Given the description of an element on the screen output the (x, y) to click on. 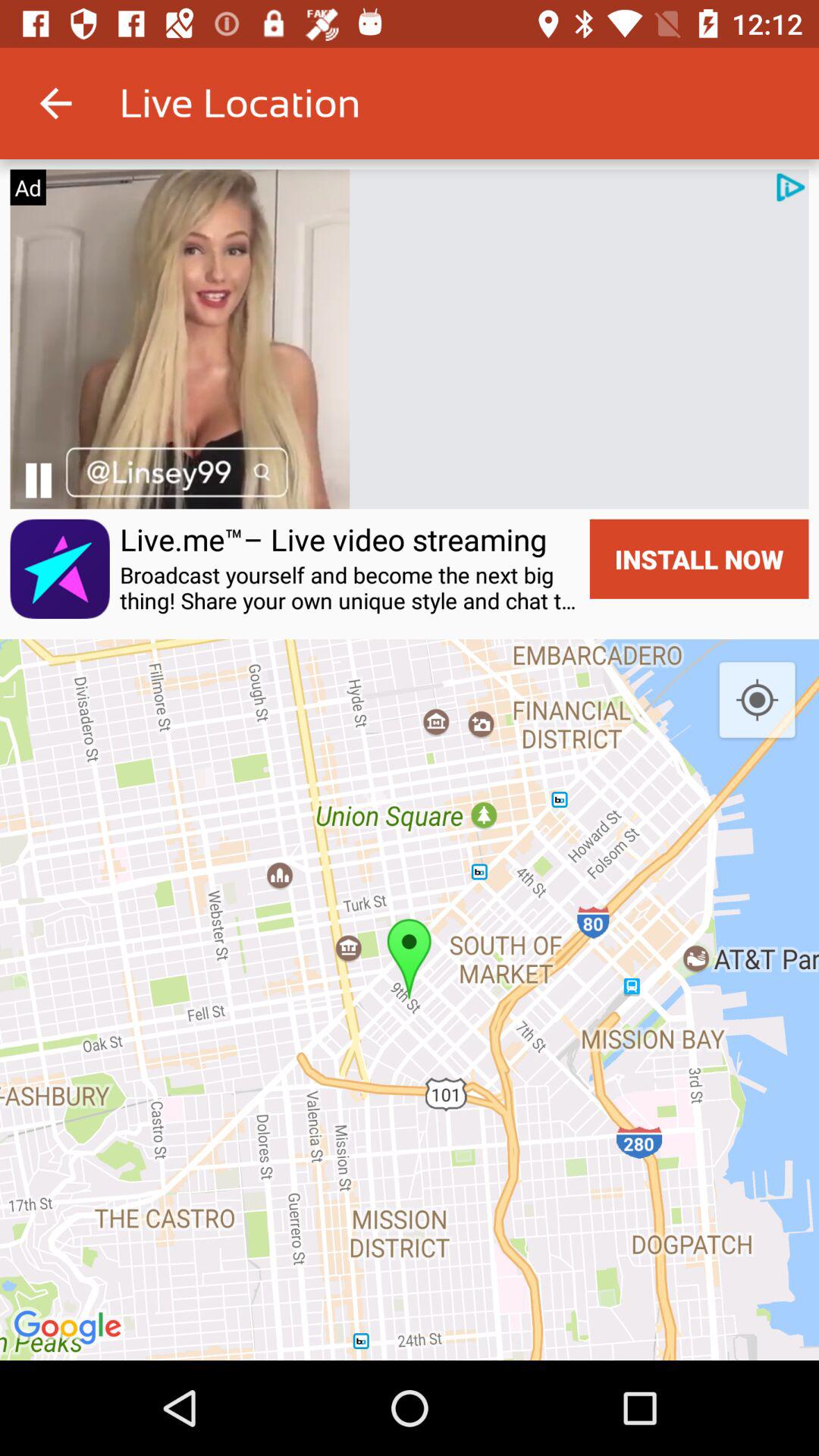
choose app next to live location icon (55, 103)
